Given the description of an element on the screen output the (x, y) to click on. 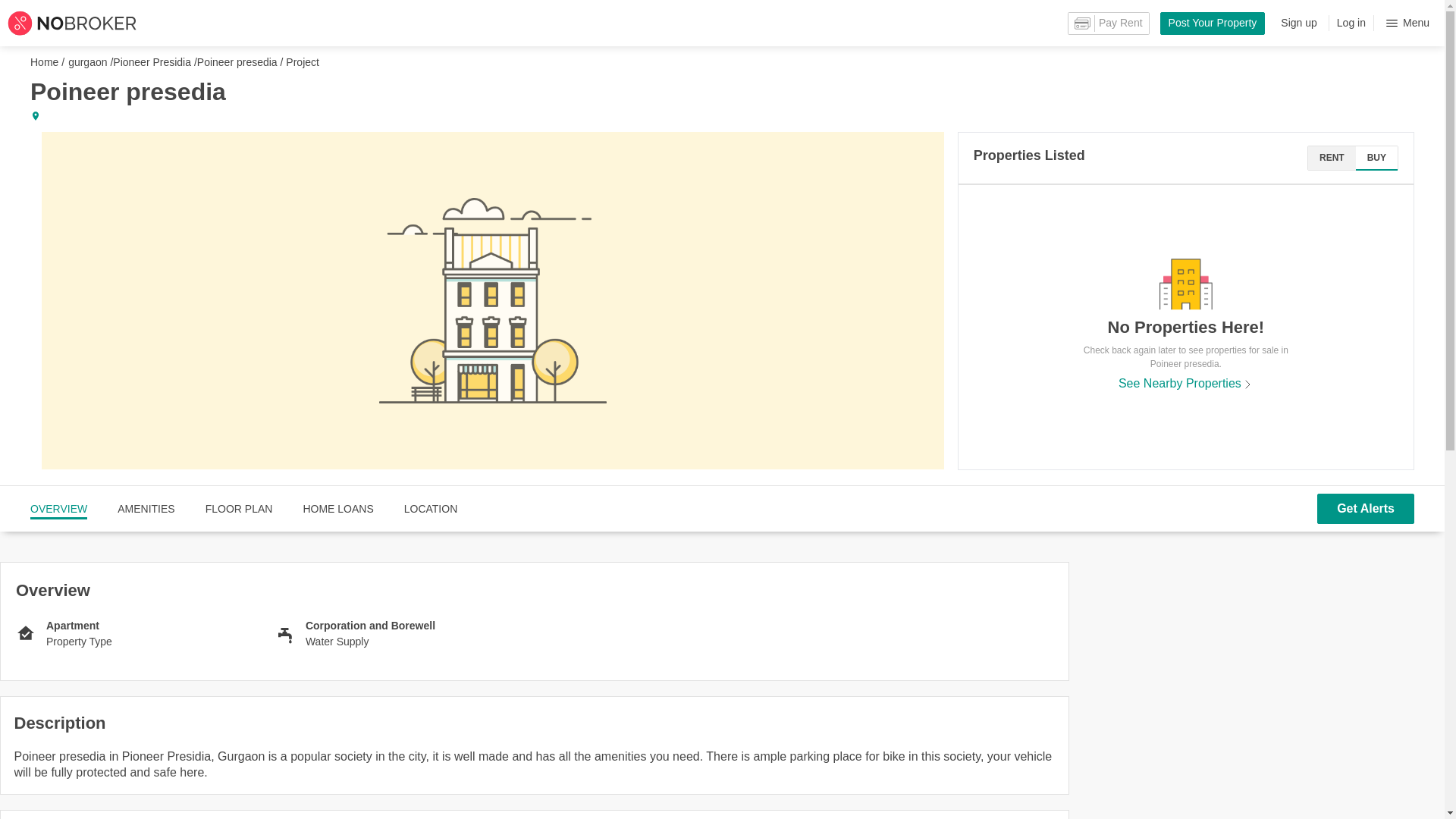
OVERVIEWAMENITIESFLOOR PLANHOME LOANSLOCATION (242, 508)
Get Alerts (1365, 508)
Post Your Property (1212, 23)
